Given the description of an element on the screen output the (x, y) to click on. 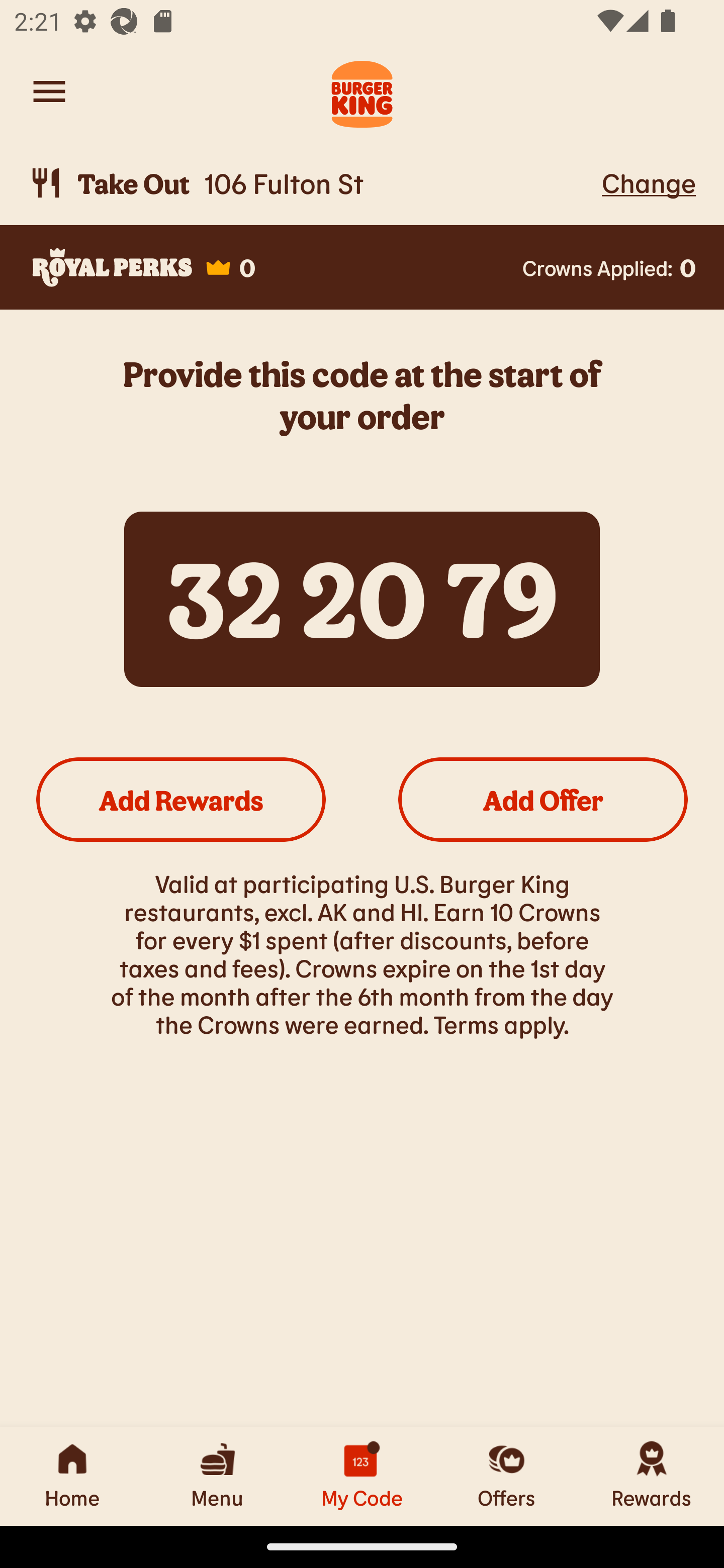
Burger King Logo. Navigate to Home (362, 91)
Navigate to account menu  (49, 91)
Take Out, 106 Fulton St  Take Out 106 Fulton St (311, 183)
Change (648, 182)
Add Rewards (180, 799)
Add Offer (542, 799)
Home (72, 1475)
Menu (216, 1475)
My Code (361, 1475)
Offers (506, 1475)
Rewards (651, 1475)
